Given the description of an element on the screen output the (x, y) to click on. 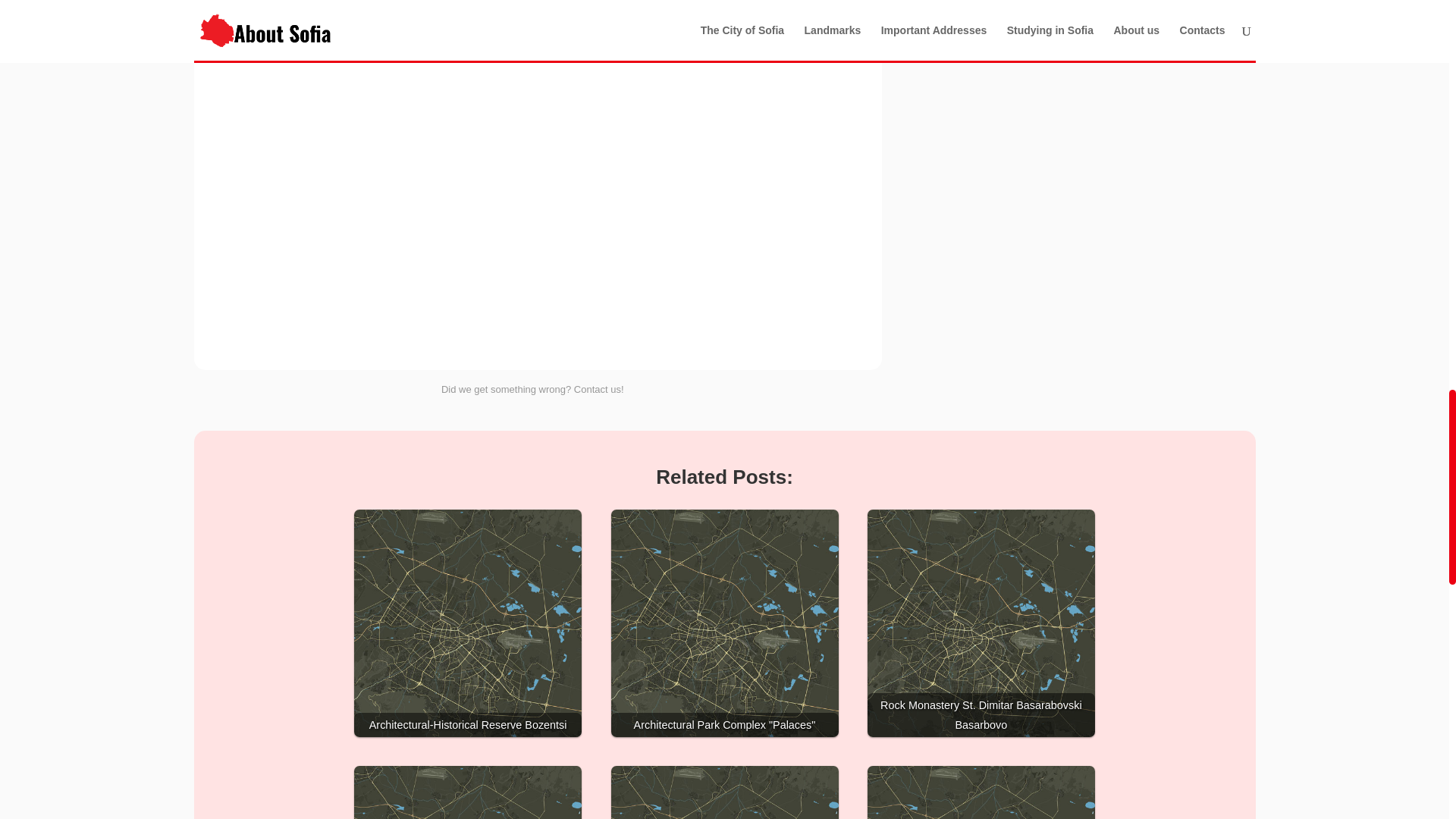
Archaeological Complex "KALETO" (980, 792)
Architectural-Historical Reserve Bozentsi (466, 623)
House-Museum "Yordan Yovkov" (466, 792)
Archaeological Complex "KALETO" (980, 792)
Architectural Park Complex "Palaces" (724, 623)
Architectural Park Complex "Palaces" (724, 623)
Architectural-Historical Reserve Bozentsi (466, 623)
Contact us! (598, 389)
Rock Monastery St. Dimitar Basarabovski Basarbovo (980, 623)
Manarstir "7 Thrones" (724, 792)
Rock Monastery St. Dimitar Basarabovski Basarbovo (980, 623)
House-Museum "Yordan Yovkov" (466, 792)
Manarstir "7 Thrones" (724, 792)
